Given the description of an element on the screen output the (x, y) to click on. 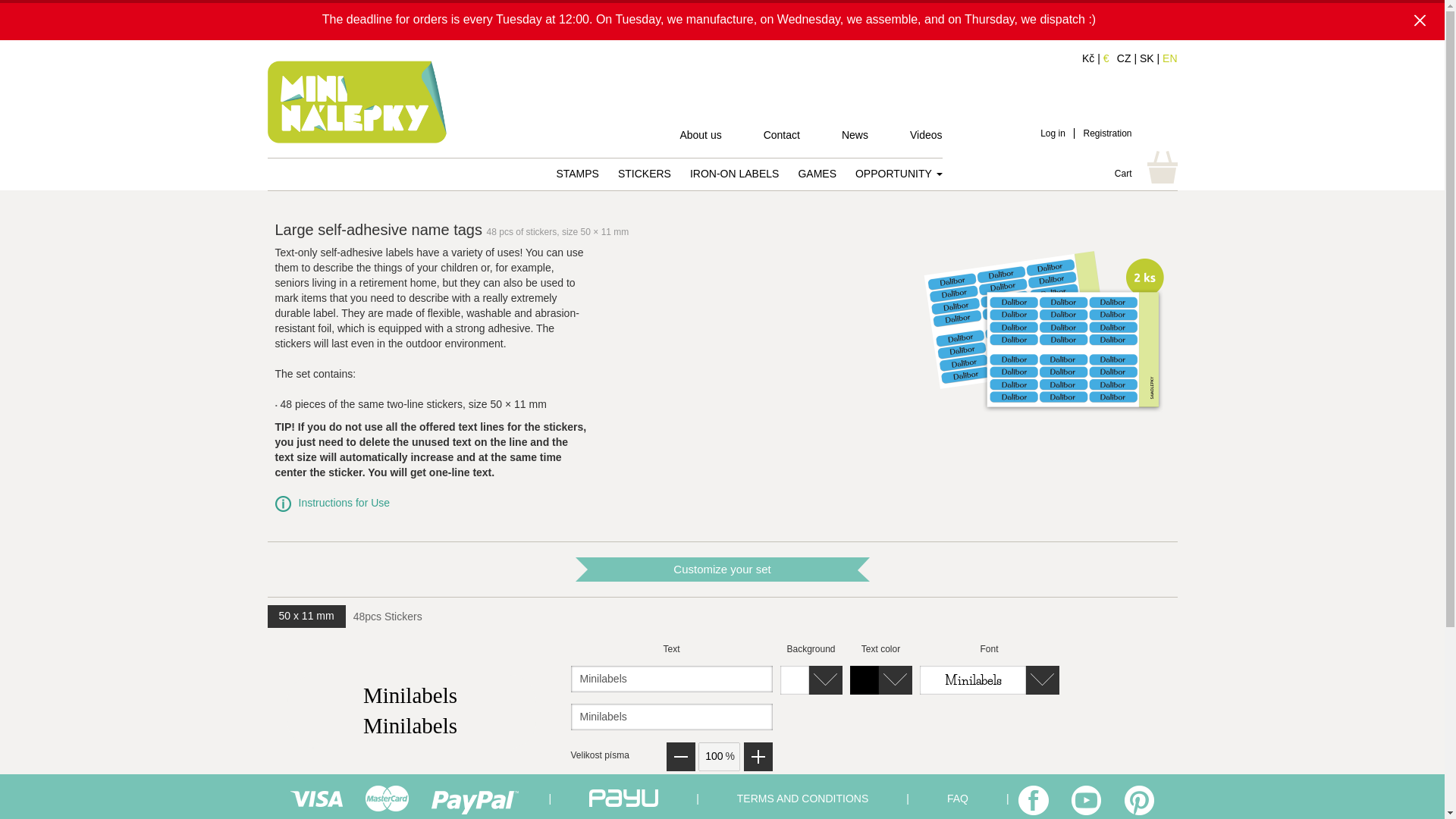
IRON-ON LABELS (734, 173)
Videos (926, 136)
Registration (1107, 132)
Minilabels (670, 678)
GAMES (816, 173)
Contact (780, 136)
Instructions for Use (344, 502)
News (854, 136)
Minilabels (670, 716)
OPPORTUNITY (899, 173)
About us (699, 136)
CZ (1123, 58)
SK (1147, 58)
Log in (1053, 132)
100 (718, 756)
